Given the description of an element on the screen output the (x, y) to click on. 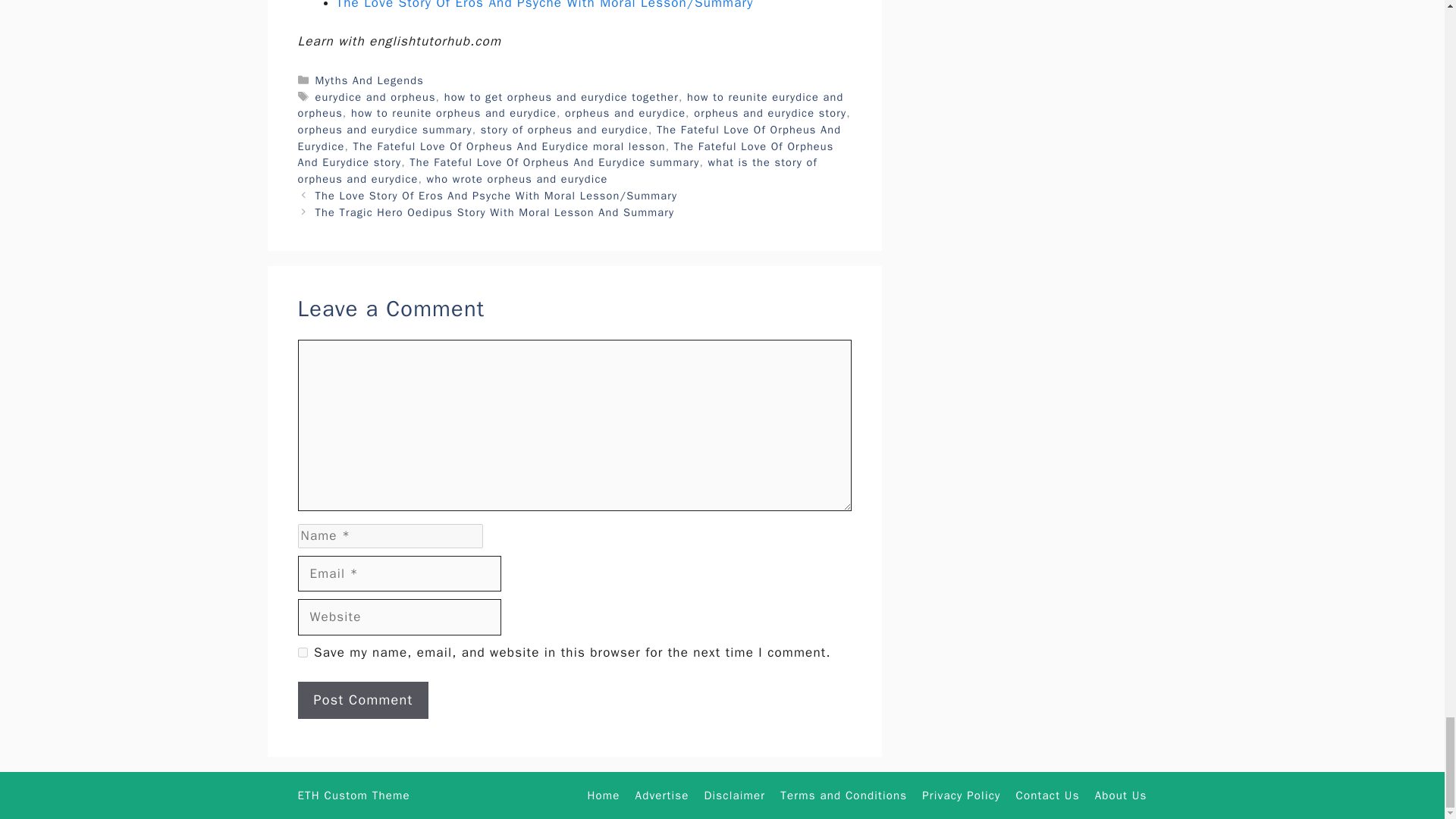
orpheus and eurydice (624, 112)
how to get orpheus and eurydice together (561, 97)
orpheus and eurydice summary (384, 129)
how to reunite orpheus and eurydice (453, 112)
eurydice and orpheus (375, 97)
The Fateful Love Of Orpheus And Eurydice (569, 137)
The Tragic Hero Oedipus Story With Moral Lesson And Summary (495, 211)
what is the story of orpheus and eurydice (556, 170)
story of orpheus and eurydice (563, 129)
Myths And Legends (369, 79)
